Given the description of an element on the screen output the (x, y) to click on. 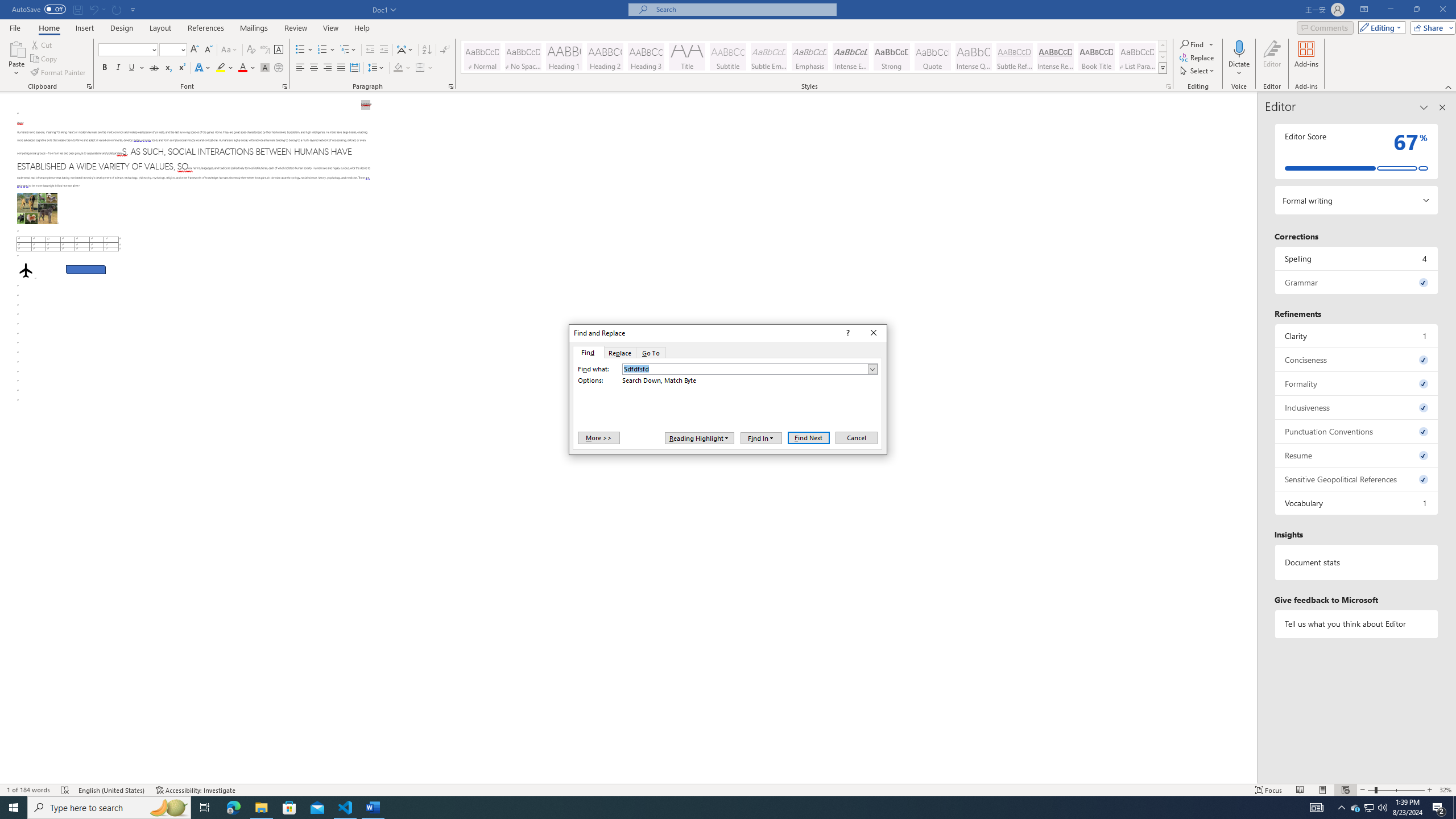
Intense Emphasis (849, 56)
Subtle Reference (1014, 56)
Running applications (717, 807)
Quote (932, 56)
Search highlights icon opens search home window (167, 807)
